Given the description of an element on the screen output the (x, y) to click on. 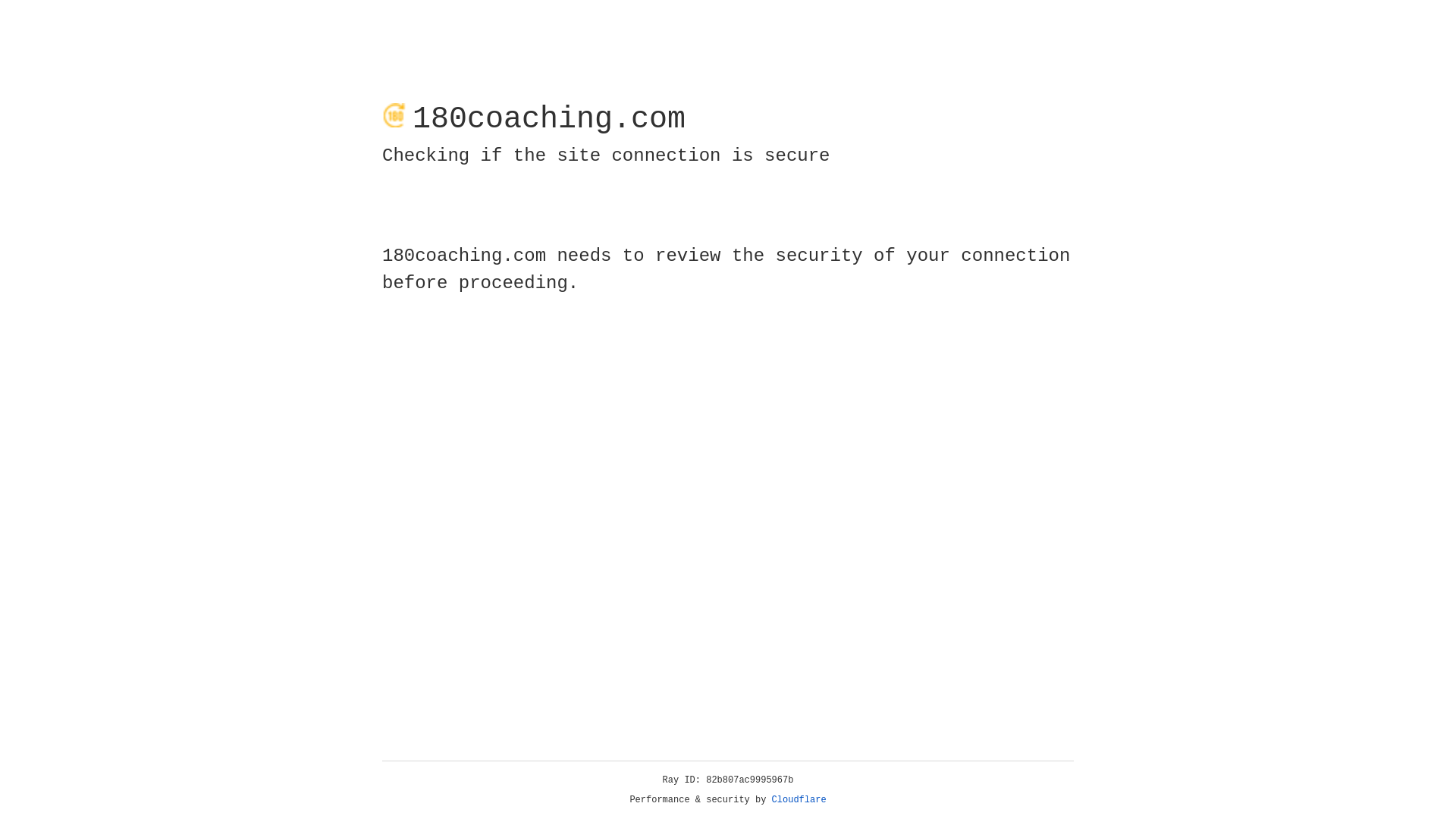
Cloudflare Element type: text (798, 799)
